Given the description of an element on the screen output the (x, y) to click on. 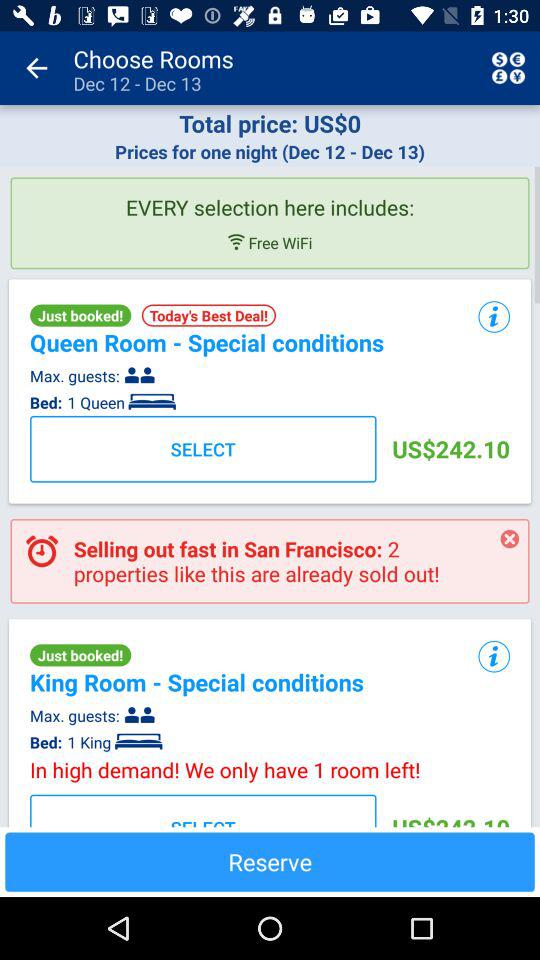
click app above the total price us item (508, 67)
